Given the description of an element on the screen output the (x, y) to click on. 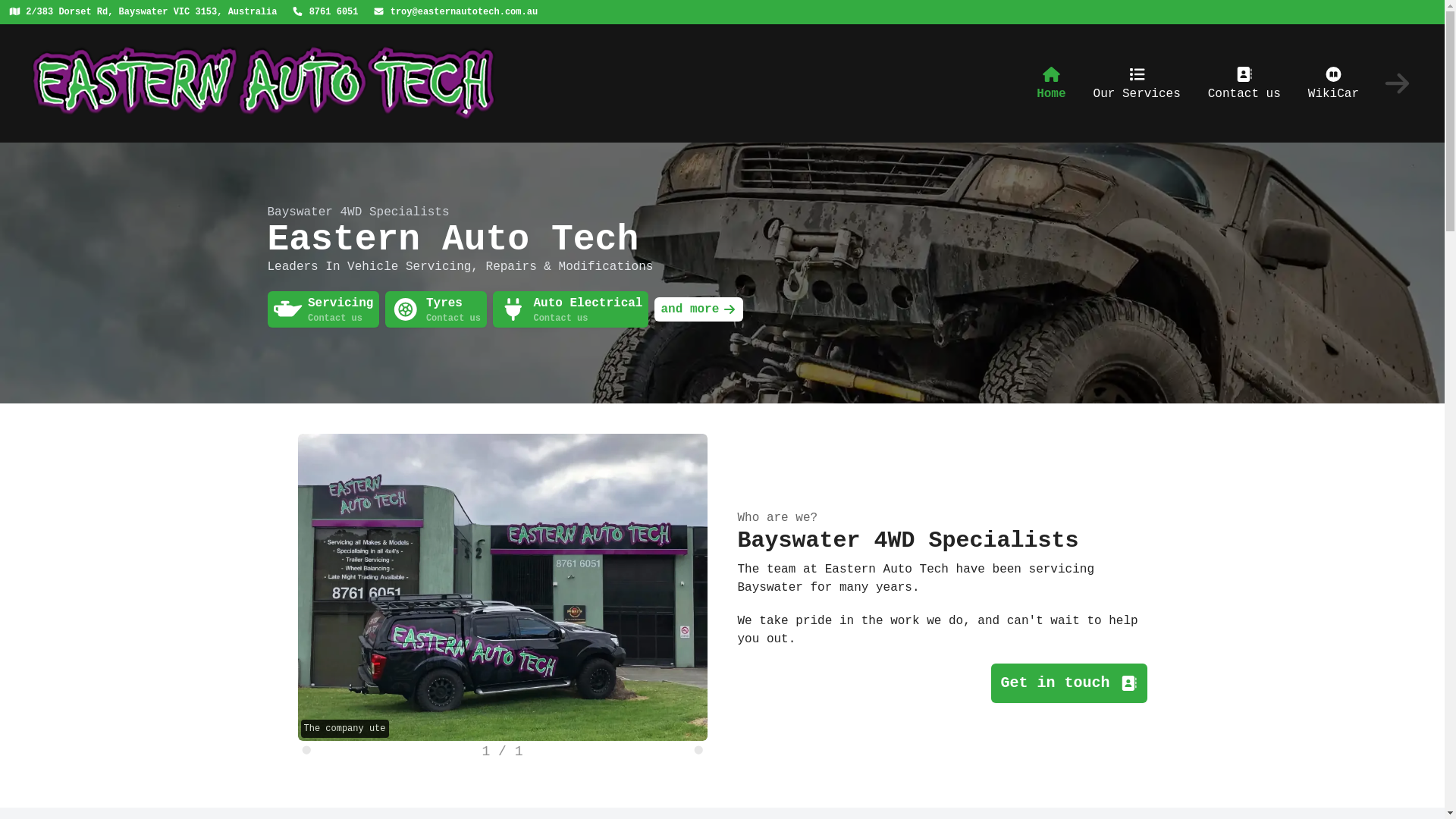
Contact us Element type: text (1244, 83)
Tyres
Contact us Element type: text (435, 309)
2/383 Dorset Rd, Bayswater VIC 3153, Australia Element type: text (142, 12)
troy@easternautotech.com.au Element type: text (455, 12)
Auto Electrical
Contact us Element type: text (570, 309)
Servicing
Contact us Element type: text (322, 309)
WikiCar Element type: text (1333, 83)
Our Services Element type: text (1136, 83)
Home Element type: text (1050, 83)
8761 6051 Element type: text (324, 12)
and more Element type: text (698, 309)
Get in touch Element type: text (1068, 682)
